Given the description of an element on the screen output the (x, y) to click on. 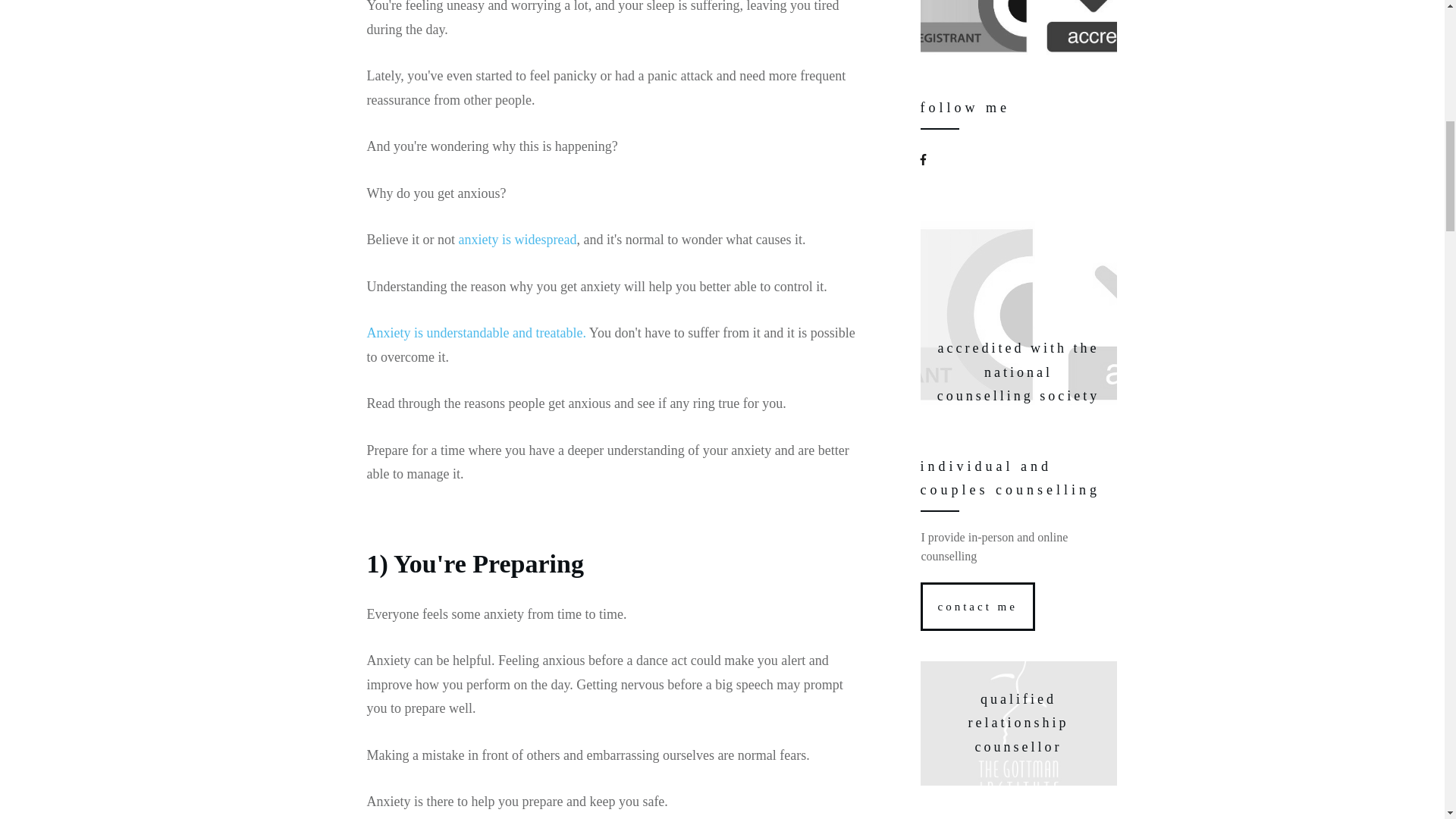
contact me (977, 606)
Anxiety is understandable and treatable. (476, 332)
anxiety is widespread (517, 239)
